Given the description of an element on the screen output the (x, y) to click on. 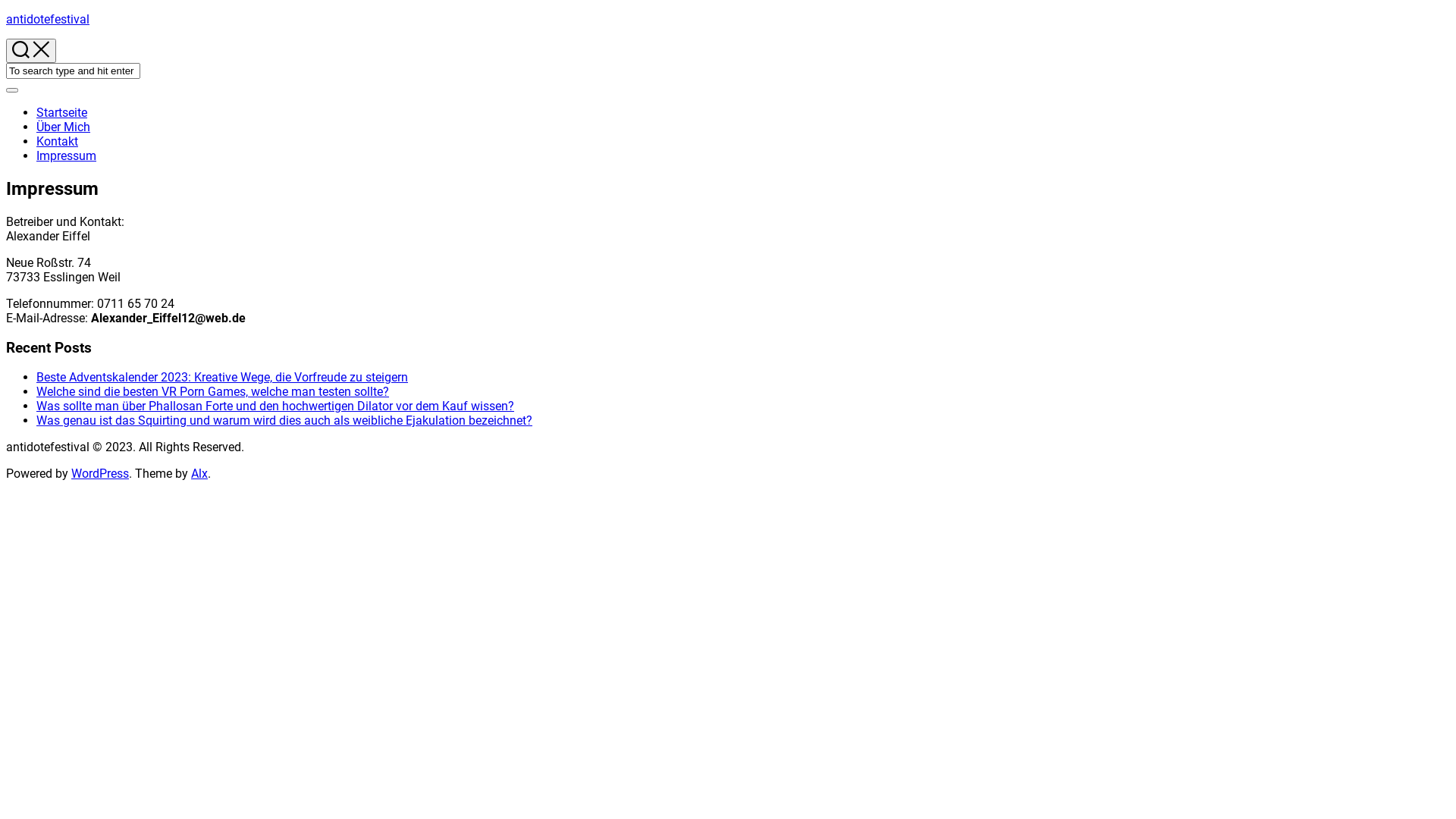
Kontakt Element type: text (57, 141)
Current Page:
Impressum Element type: text (66, 155)
Skip to content Element type: text (5, 11)
Alx Element type: text (199, 473)
WordPress Element type: text (99, 473)
antidotefestival Element type: text (47, 19)
Expand Menu Element type: text (12, 89)
Startseite Element type: text (61, 112)
